Given the description of an element on the screen output the (x, y) to click on. 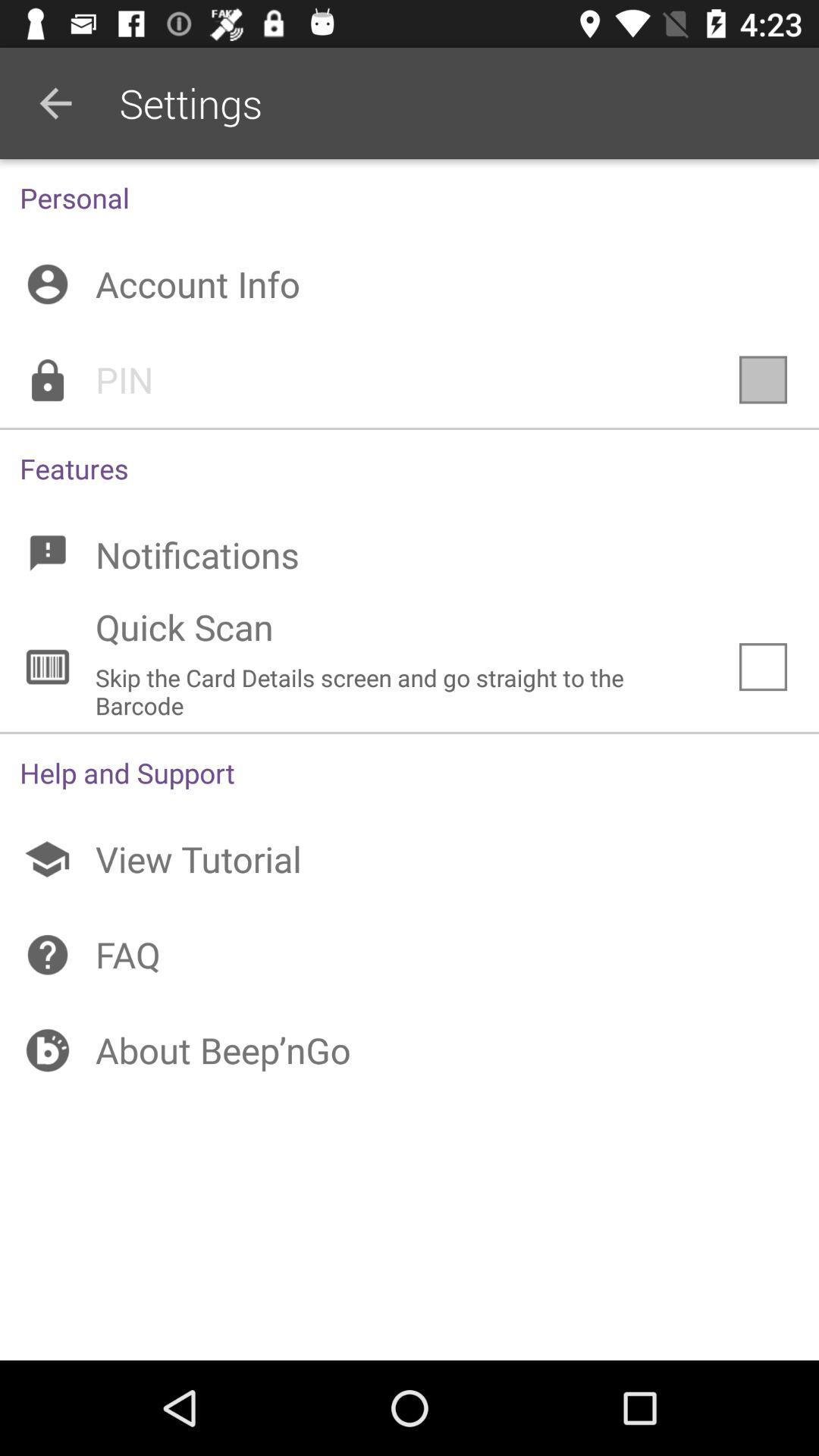
jump to the view tutorial item (409, 859)
